Given the description of an element on the screen output the (x, y) to click on. 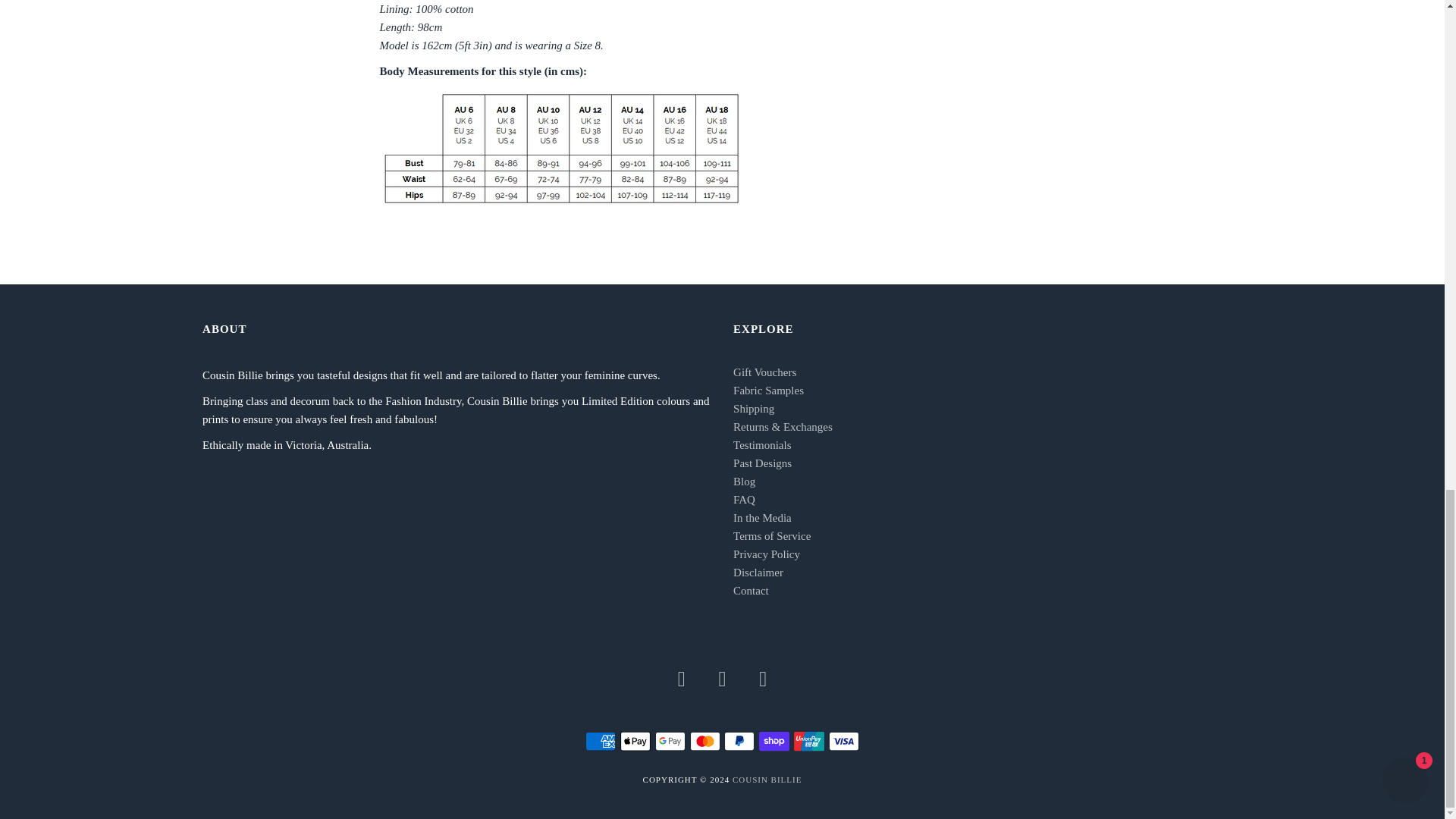
Visa (843, 741)
American Express (600, 741)
PayPal (738, 741)
Shop Pay (773, 741)
Union Pay (808, 741)
Apple Pay (635, 741)
Google Pay (670, 741)
Mastercard (705, 741)
